Given the description of an element on the screen output the (x, y) to click on. 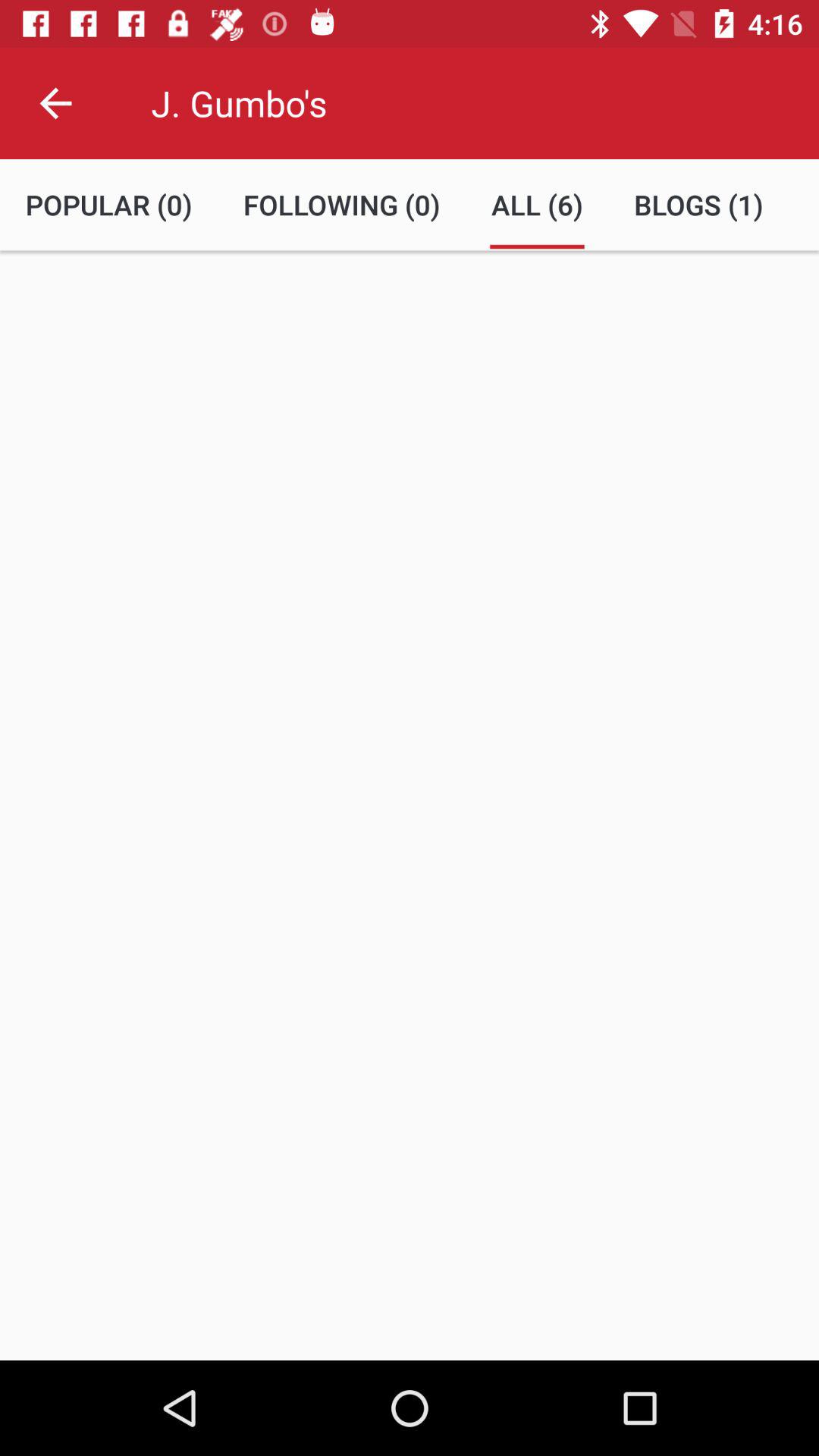
choose the item next to the j. gumbo's icon (55, 103)
